Given the description of an element on the screen output the (x, y) to click on. 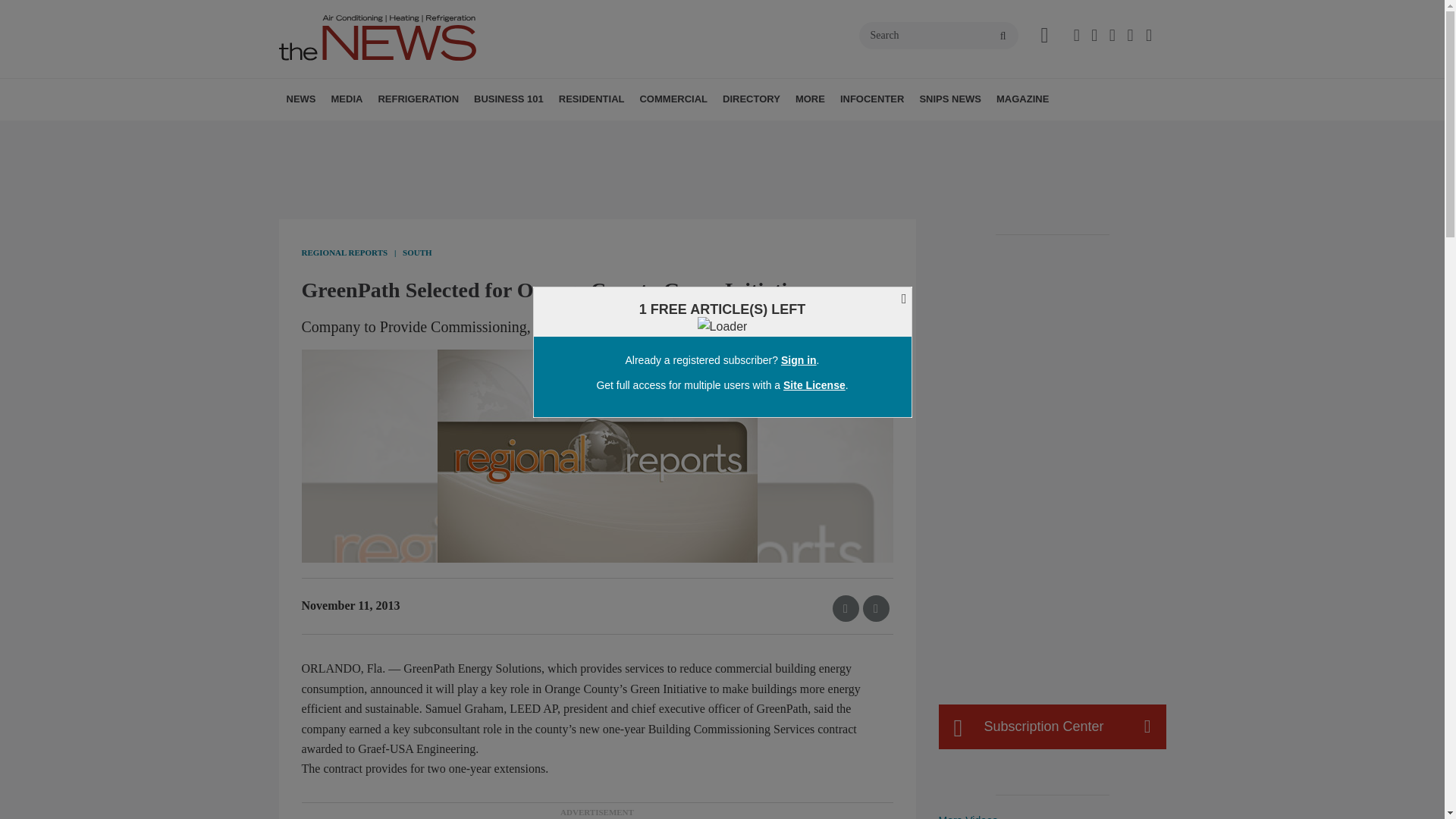
REFRIGERANT REGULATIONS (472, 132)
DUCTWORD PUZZLE (449, 132)
THE NEWS HVACR QUIZ (445, 132)
FROSTLINES (478, 132)
MEDIA (346, 98)
MANUFACTURER REPORTS (386, 132)
REFRIGERANTS (464, 132)
ONLINE POLL (452, 132)
search (1002, 36)
BREAKING NEWS (373, 132)
VIDEOS (417, 132)
Search (938, 35)
NEW HVAC PRODUCTS (380, 132)
BUSINESS 101 (508, 98)
Search (938, 35)
